Given the description of an element on the screen output the (x, y) to click on. 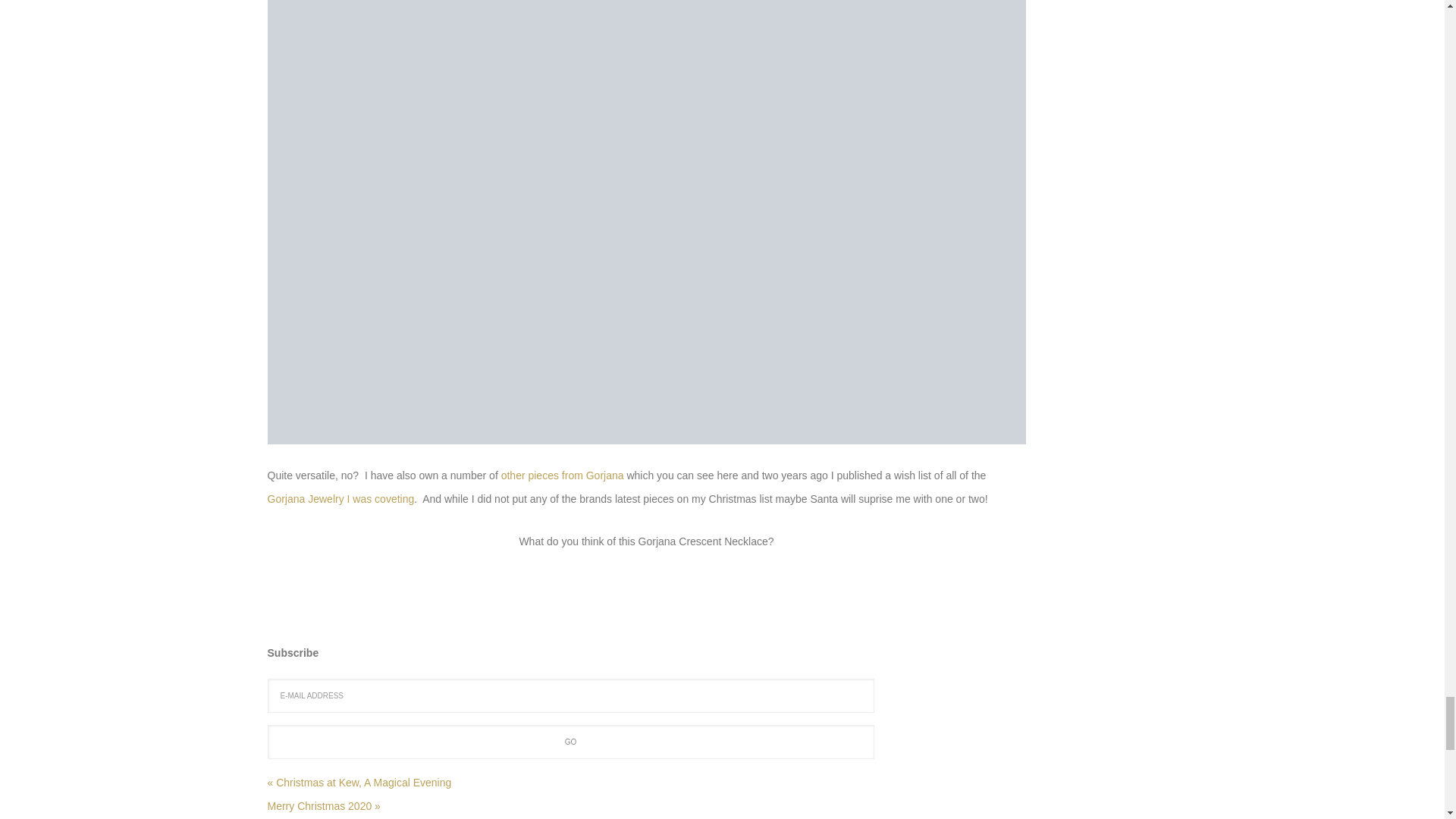
Go (569, 741)
